Given the description of an element on the screen output the (x, y) to click on. 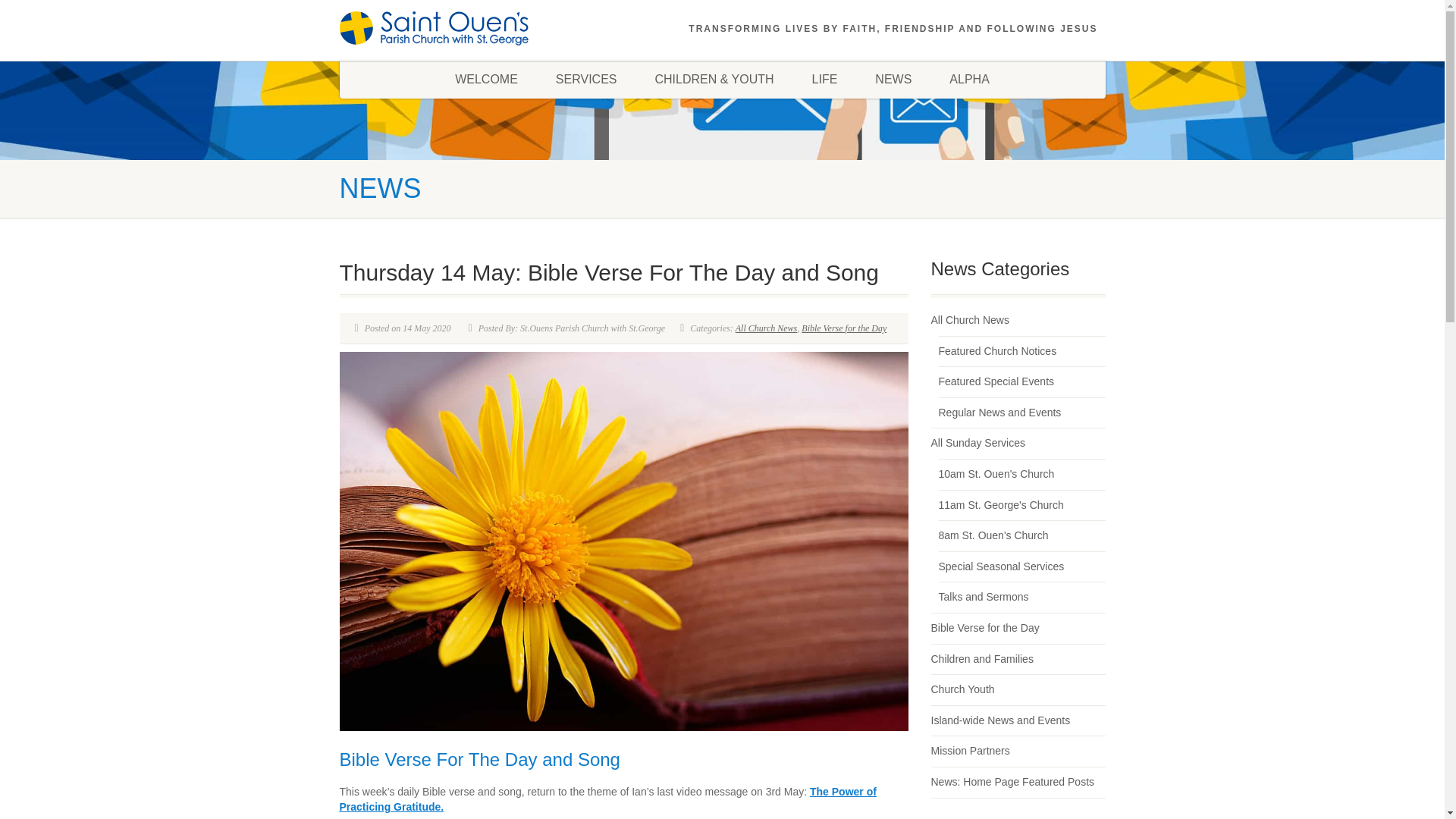
St. Ouen's Parish Church with St. George (459, 28)
All Church News (766, 327)
LIFE (825, 79)
SERVICES (586, 79)
NEWS (893, 79)
WELCOME (486, 79)
TRANSFORMING LIVES BY FAITH, FRIENDSHIP AND FOLLOWING JESUS (892, 29)
ALPHA (968, 79)
